Given the description of an element on the screen output the (x, y) to click on. 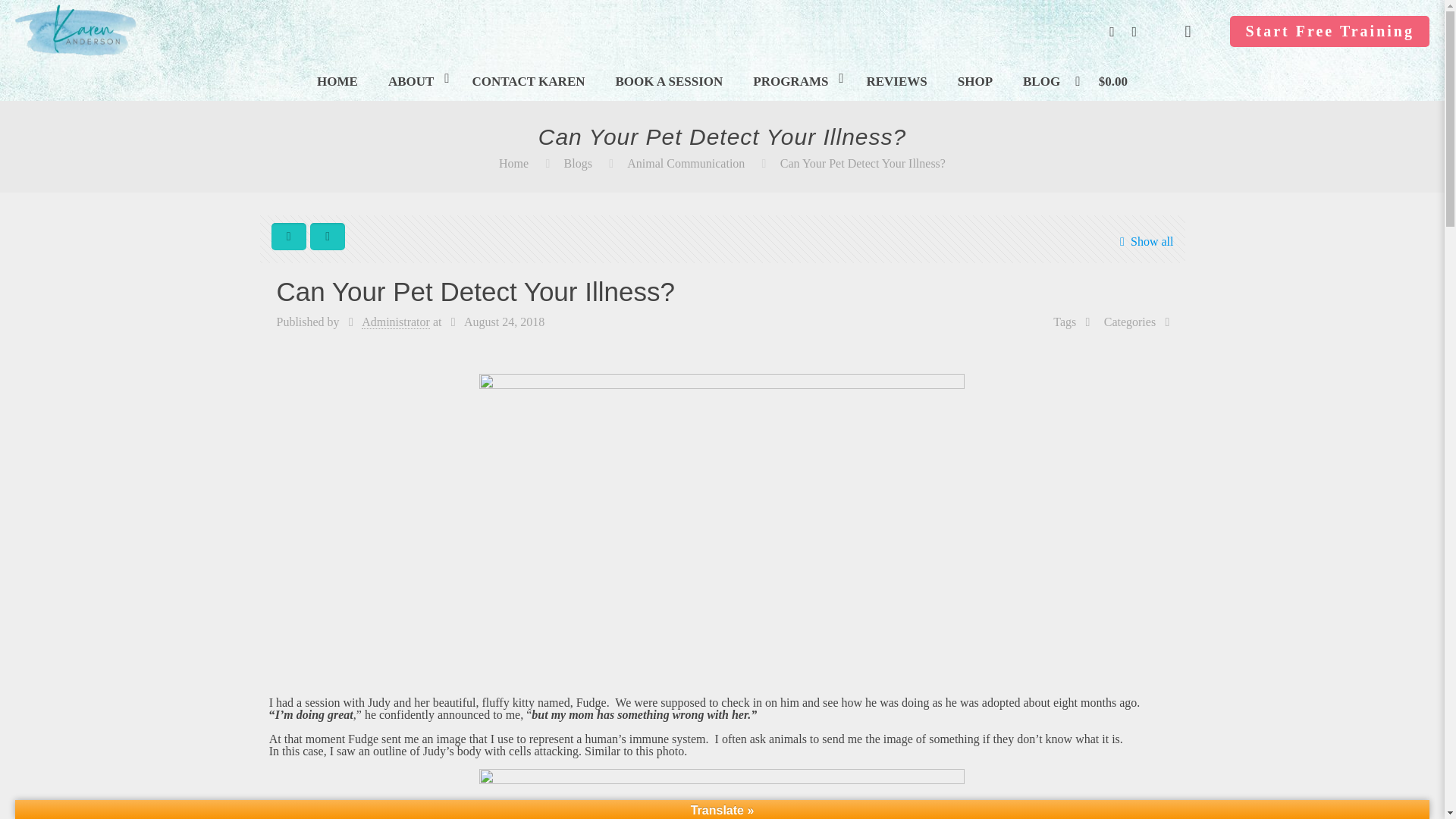
ABOUT (414, 81)
CONTACT KAREN (528, 81)
REVIEWS (896, 81)
Karen Anderson (75, 56)
SHOP (974, 81)
BOOK A SESSION (668, 81)
PROGRAMS (794, 81)
HOME (336, 81)
BLOG (1041, 81)
Start Free Training (1329, 30)
Start shopping (1108, 81)
